Given the description of an element on the screen output the (x, y) to click on. 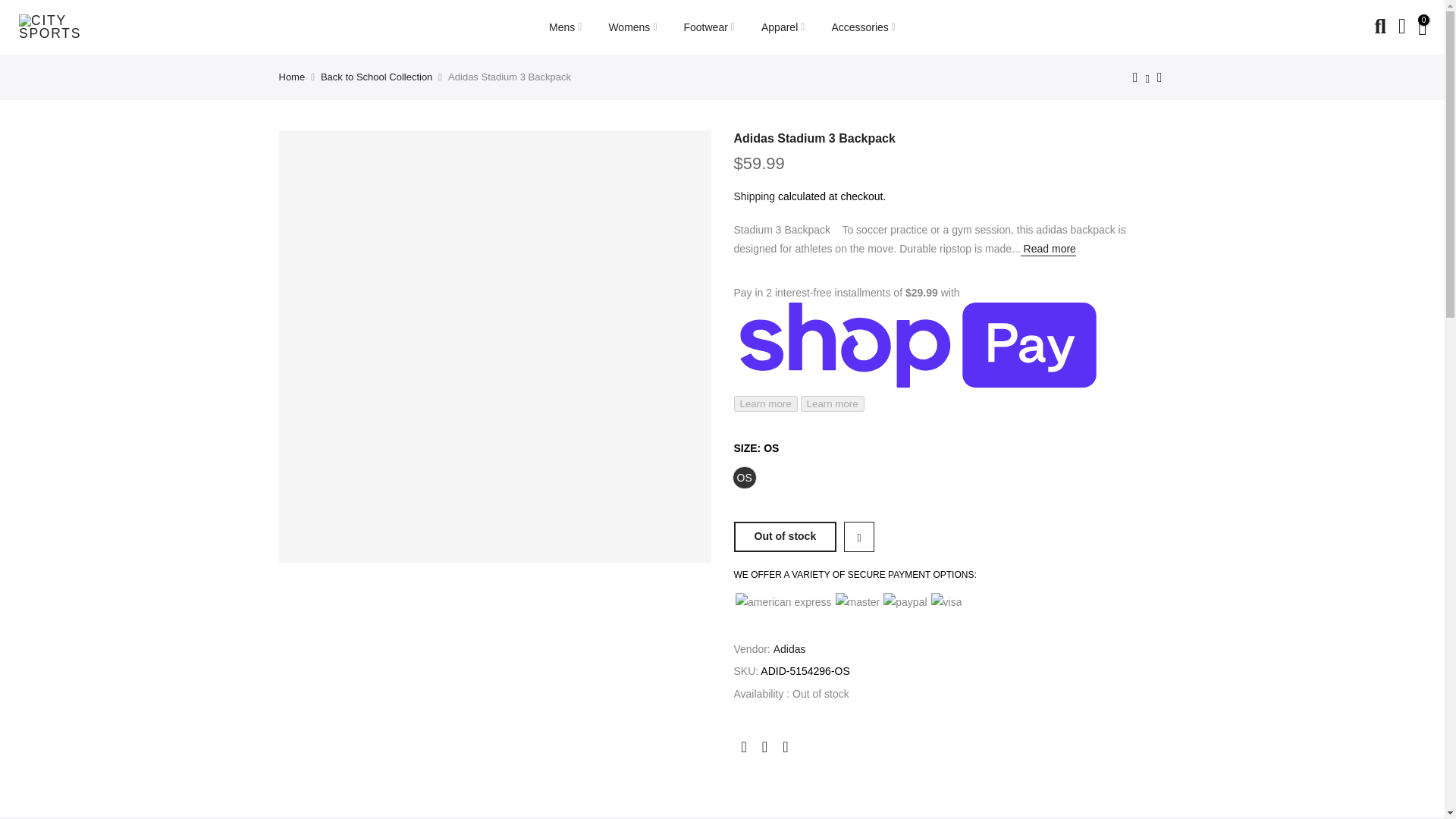
Mens (565, 27)
Adidas (789, 649)
